Given the description of an element on the screen output the (x, y) to click on. 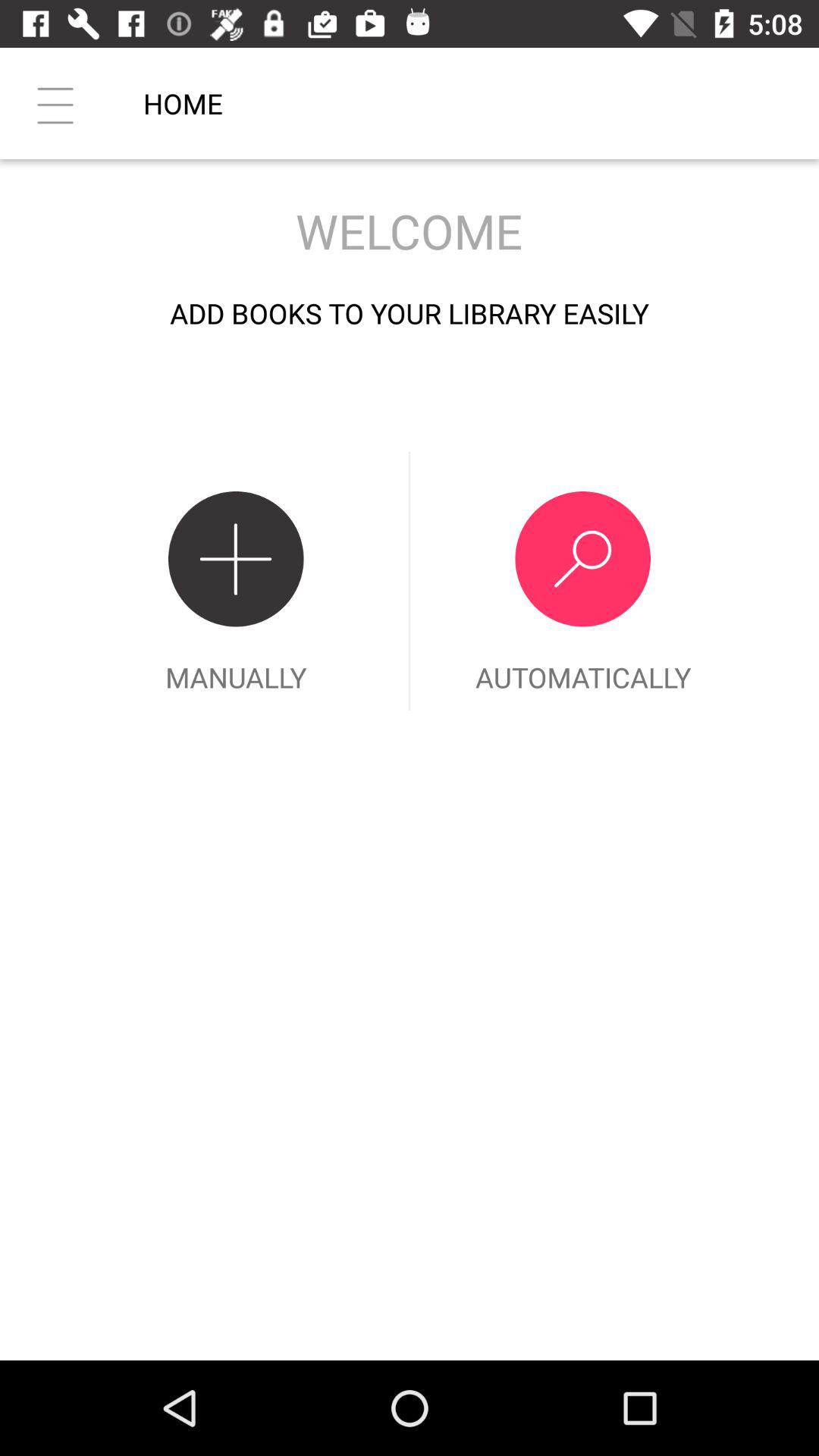
swipe to manually icon (235, 580)
